Given the description of an element on the screen output the (x, y) to click on. 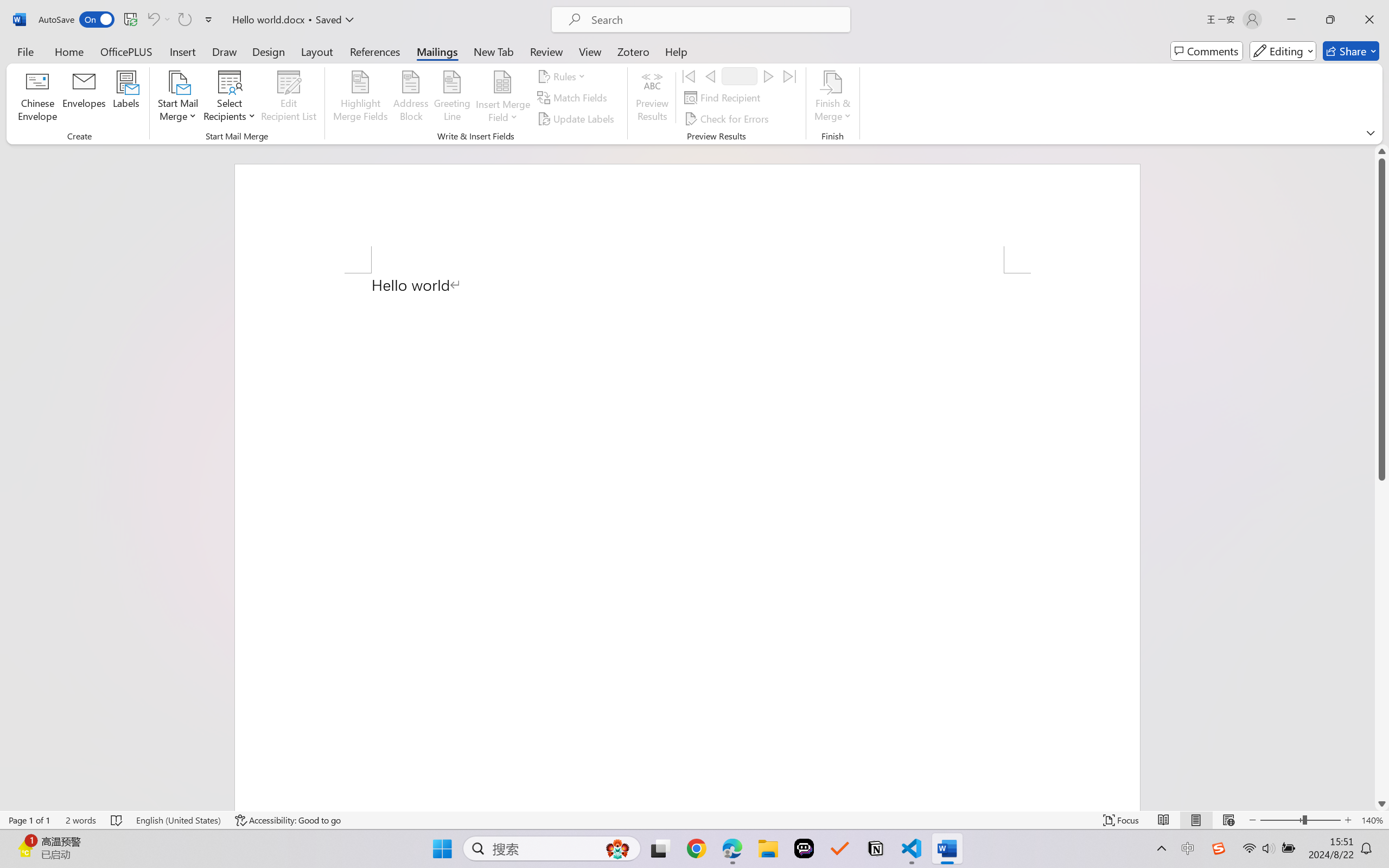
Class: NetUIScrollBar (1382, 477)
Check for Errors... (728, 118)
Spelling and Grammar Check No Errors (117, 819)
Insert (182, 51)
Start Mail Merge (177, 97)
Zotero (632, 51)
